Given the description of an element on the screen output the (x, y) to click on. 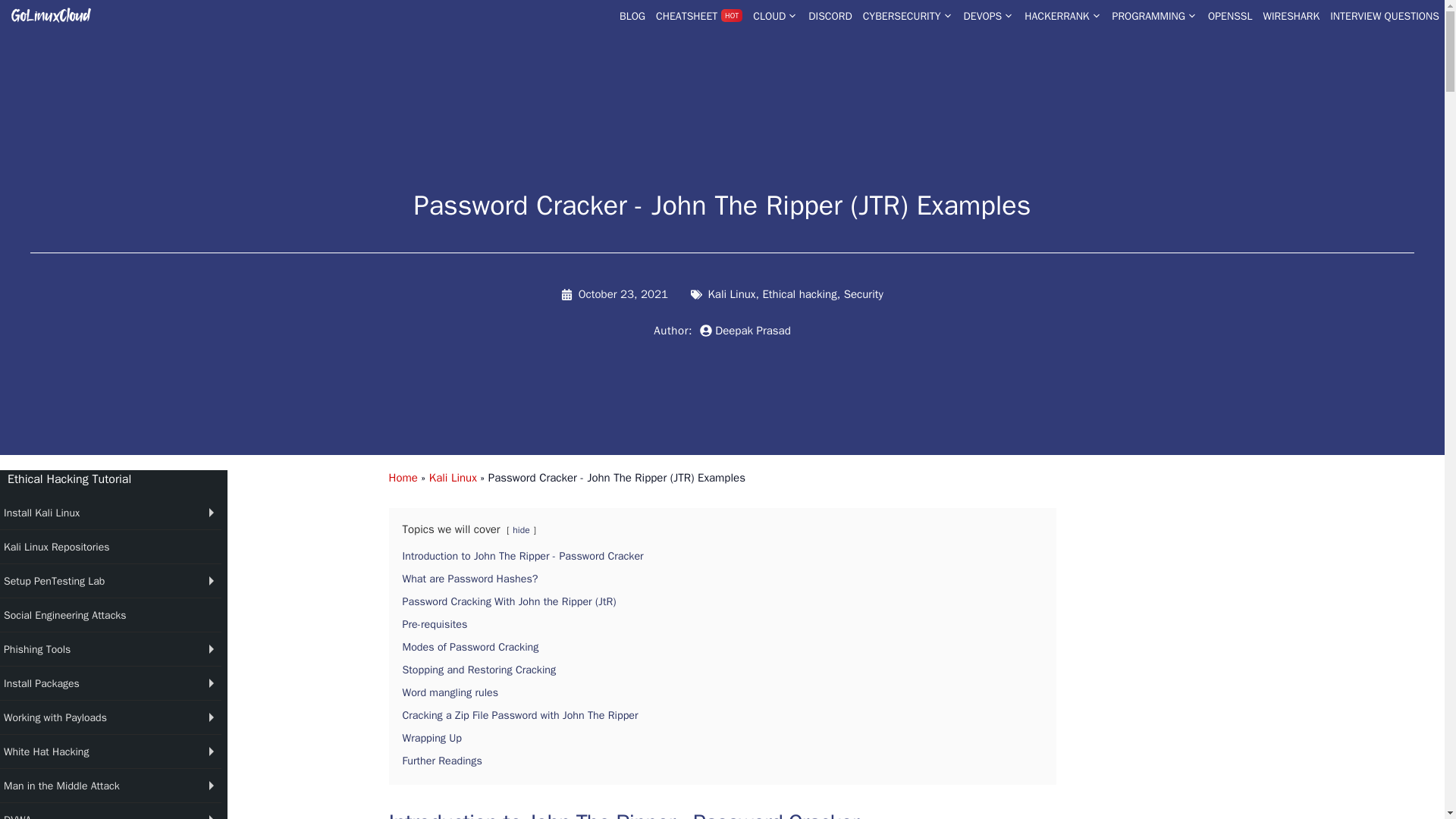
CLOUD (775, 15)
CHEATSHEET (699, 15)
GoLinuxCloud (50, 13)
BLOG (632, 15)
